Given the description of an element on the screen output the (x, y) to click on. 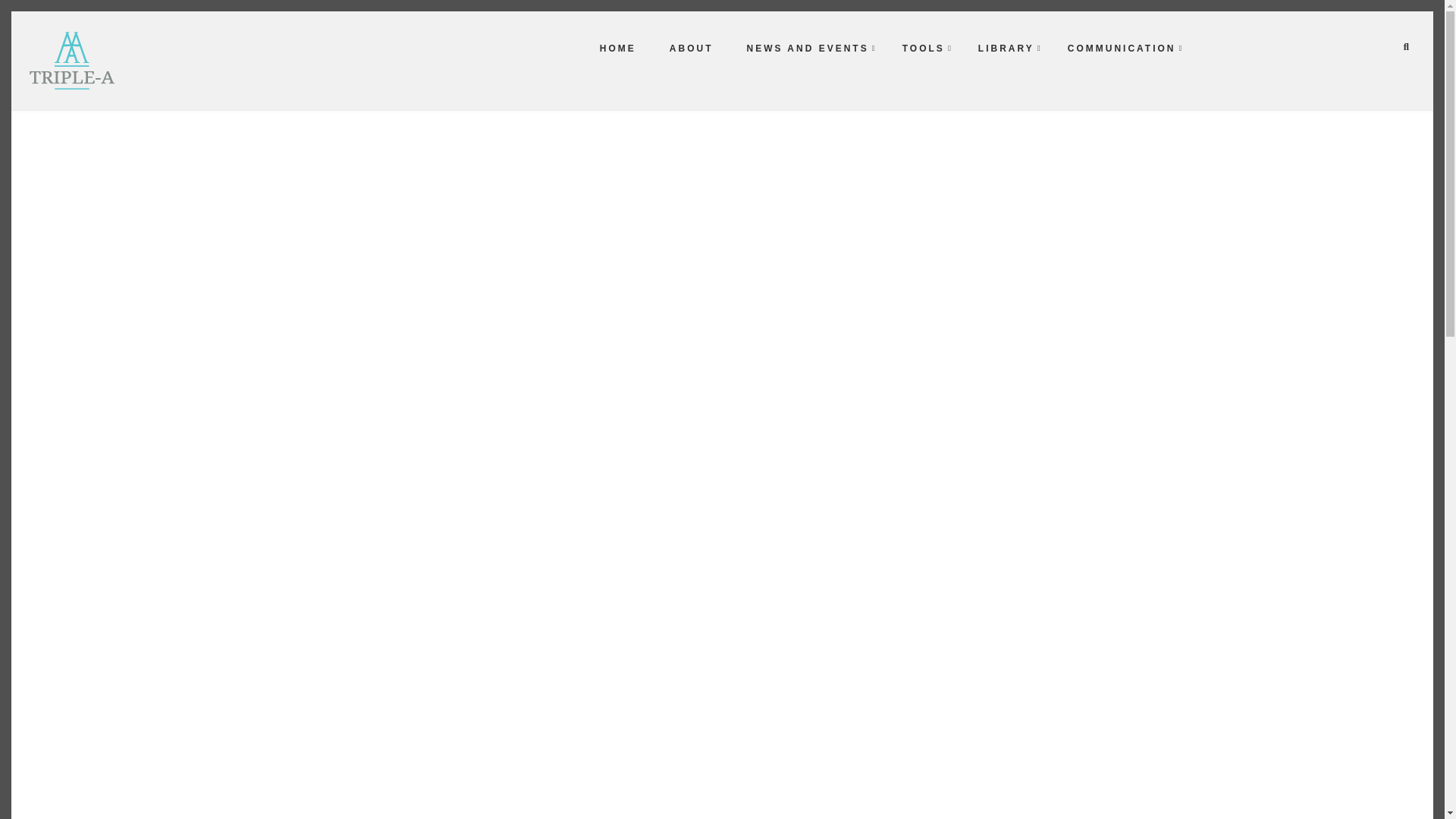
NEWS AND EVENTS (806, 47)
LIBRARY (1005, 47)
Home (71, 59)
TOOLS (923, 47)
HOME (617, 47)
COMMUNICATION (1121, 47)
ABOUT (691, 47)
